Given the description of an element on the screen output the (x, y) to click on. 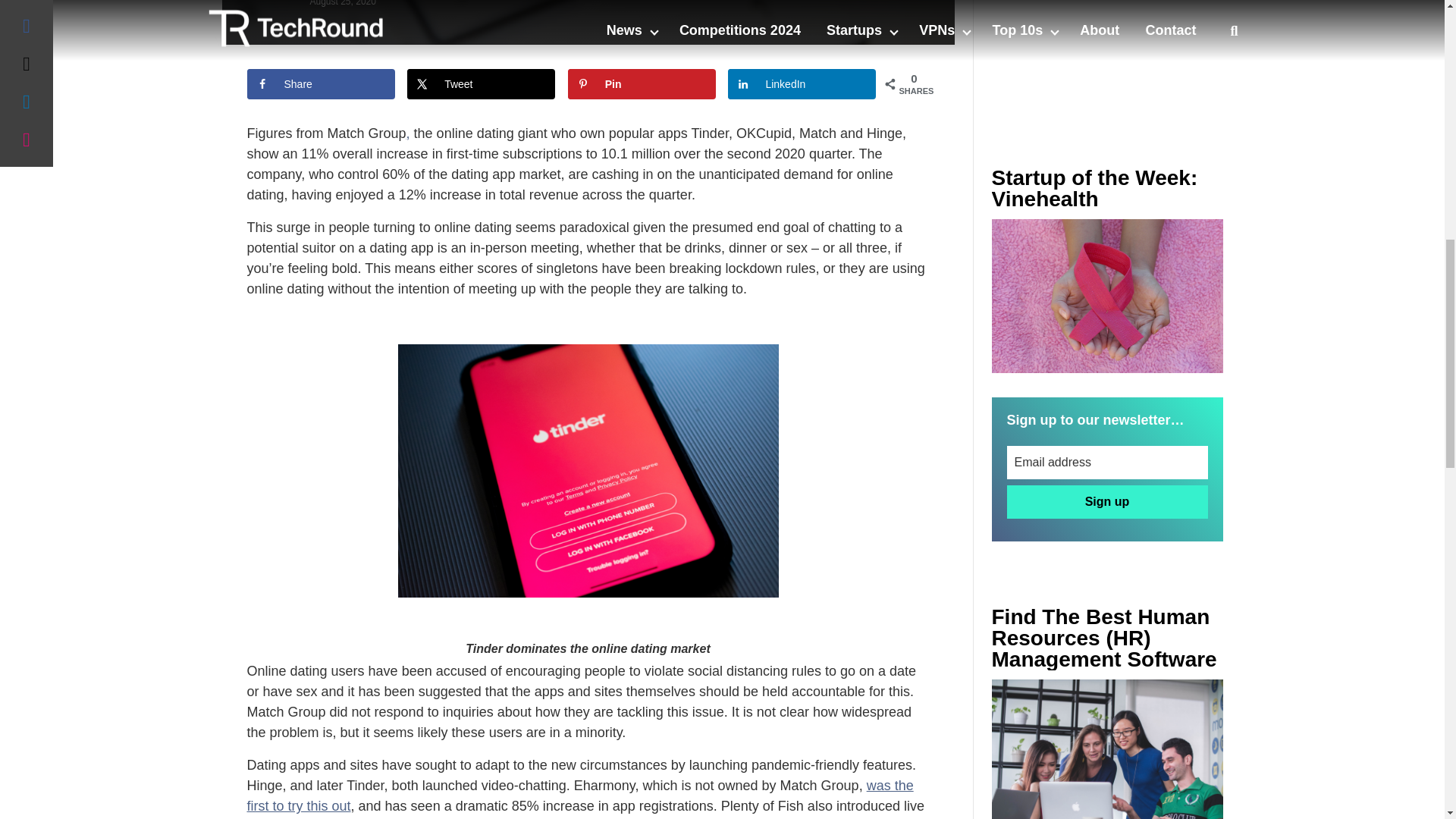
Startup of the Week: Neon Link (1107, 296)
Advertisement (1107, 53)
Sign up (1107, 501)
Share on Facebook (320, 83)
Enter The BAME Top 50 Entrepreneurs - Deadline 10th Nov 2021 (1107, 749)
Share on LinkedIn (802, 83)
Save to Pinterest (641, 83)
Share on X (480, 83)
